Given the description of an element on the screen output the (x, y) to click on. 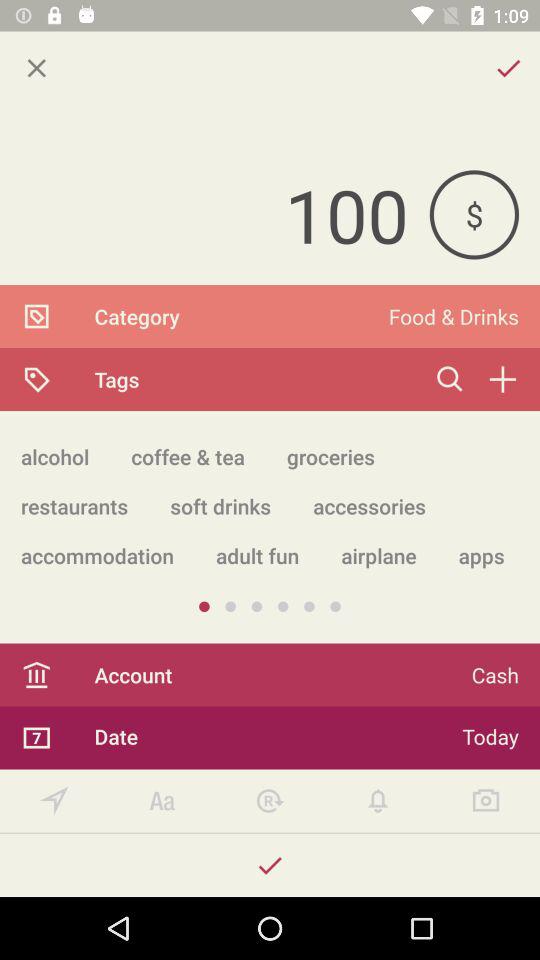
tap the item to the left of $ item (214, 214)
